Given the description of an element on the screen output the (x, y) to click on. 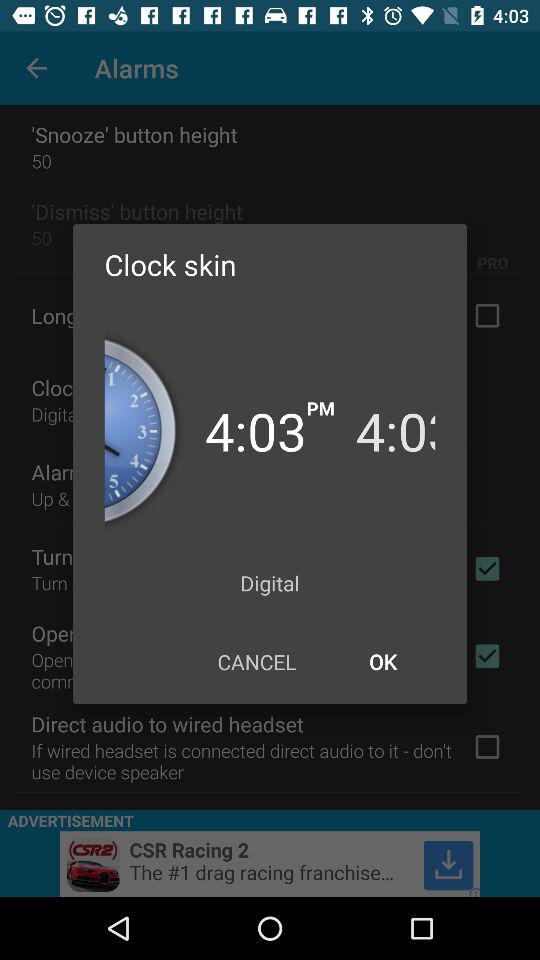
select ok item (382, 661)
